Given the description of an element on the screen output the (x, y) to click on. 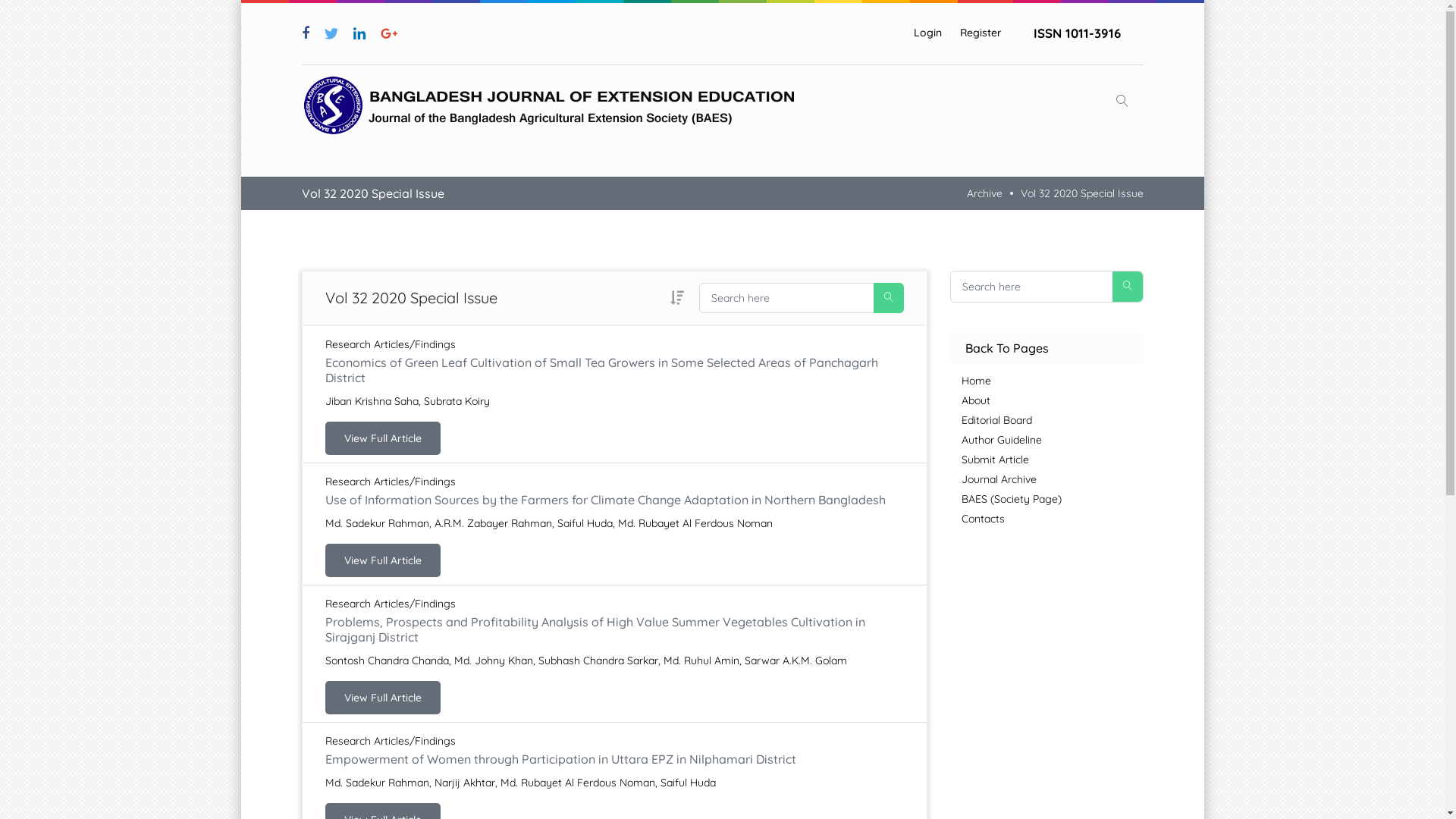
Submit Article Element type: text (1052, 459)
Author Guideline Element type: text (1052, 439)
Research Articles/Findings Element type: text (389, 344)
BAES (Society Page) Element type: text (1052, 498)
Research Articles/Findings Element type: text (389, 740)
Journal Archive Element type: text (1052, 478)
Contacts Element type: text (1052, 518)
Archive Element type: text (983, 193)
About Element type: text (1052, 400)
Register Element type: text (980, 32)
Research Articles/Findings Element type: text (389, 481)
Research Articles/Findings Element type: text (389, 603)
Vol 32 2020 Special Issue Element type: text (1081, 193)
View Full Article Element type: text (381, 560)
View Full Article Element type: text (381, 438)
Login Element type: text (927, 32)
Home Element type: text (1052, 380)
View Full Article Element type: text (381, 697)
Editorial Board Element type: text (1052, 419)
